Given the description of an element on the screen output the (x, y) to click on. 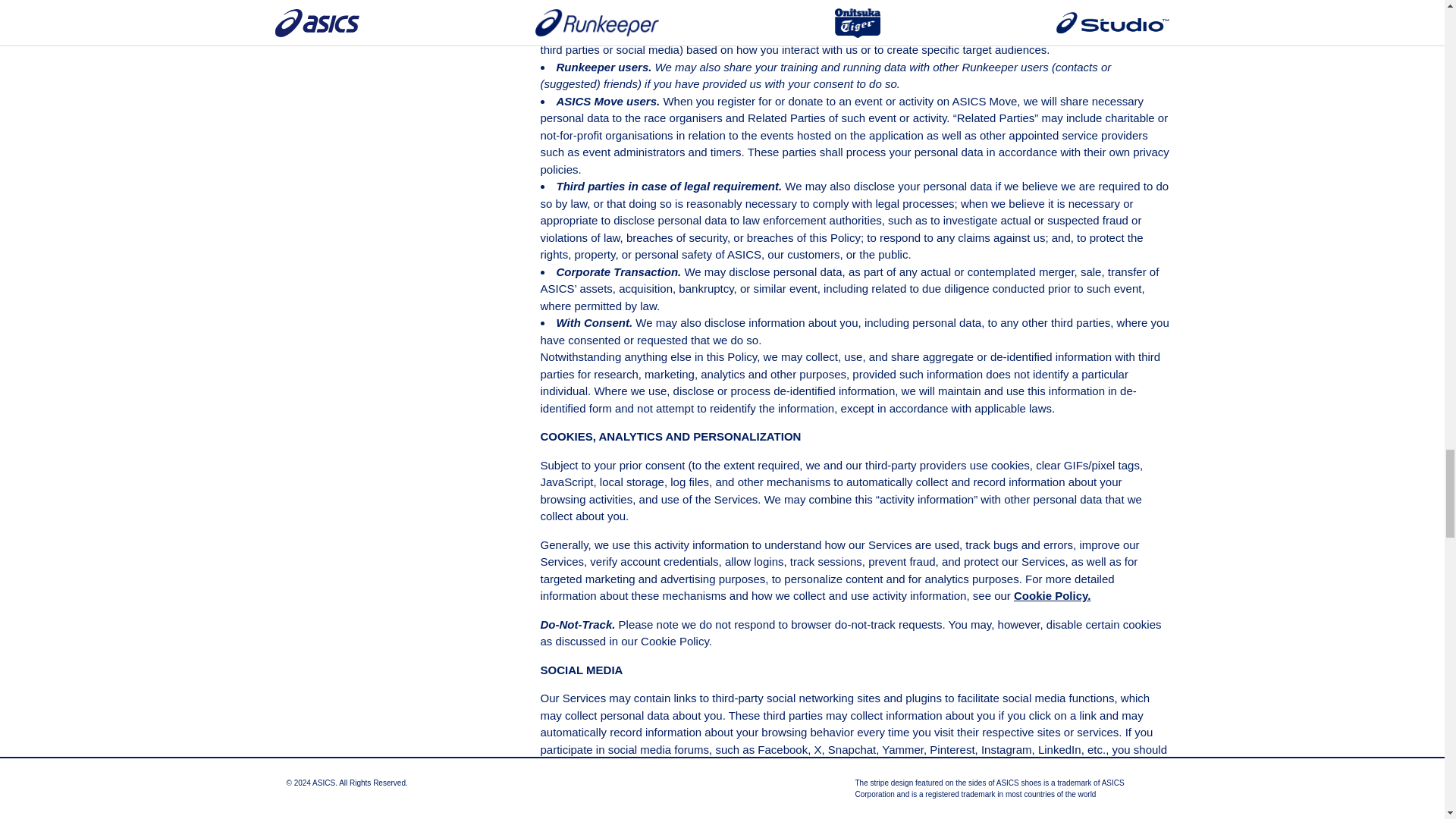
Cookie Policy. (1051, 594)
